Given the description of an element on the screen output the (x, y) to click on. 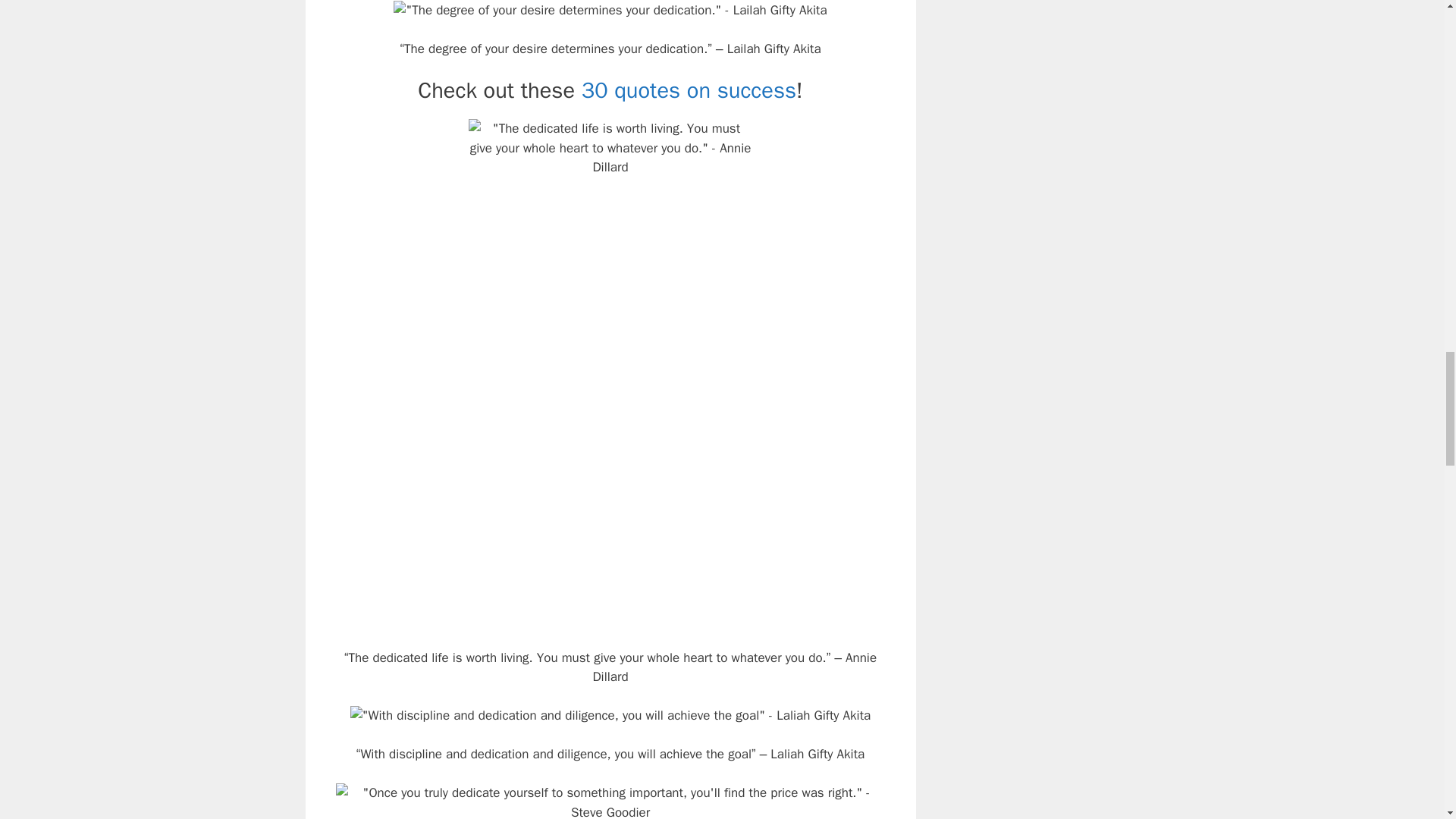
30 quotes on success (688, 90)
